Given the description of an element on the screen output the (x, y) to click on. 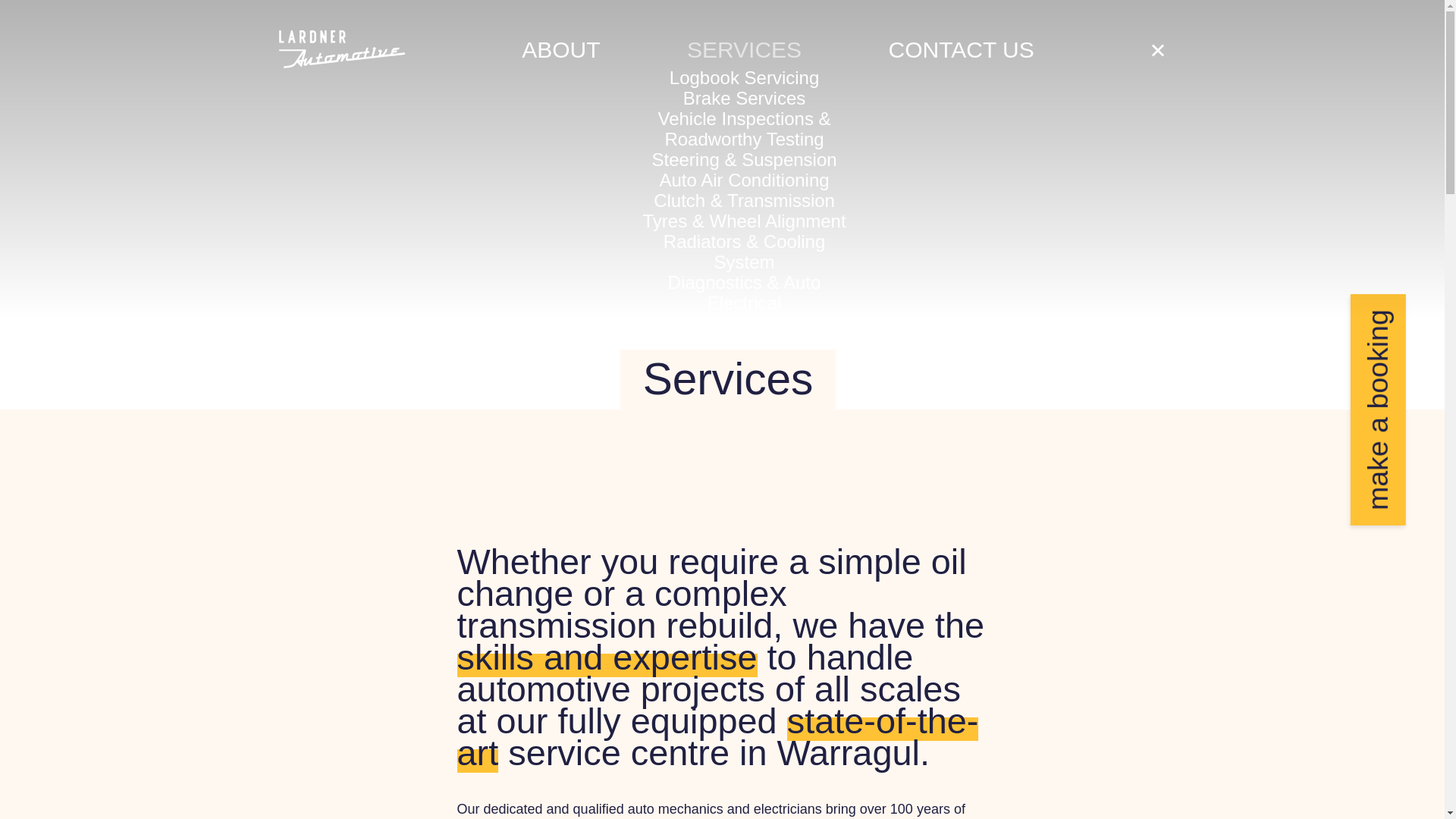
Steering & Suspension Element type: text (743, 158)
Brake Services Element type: text (744, 97)
Clutch & Transmission Element type: text (743, 199)
Vehicle Inspections & Roadworthy Testing Element type: text (743, 127)
CONTACT US Element type: text (961, 49)
Radiators & Cooling System Element type: text (744, 250)
Tyres & Wheel Alignment Element type: text (743, 220)
Auto Air Conditioning Element type: text (743, 179)
other services Element type: text (743, 322)
ABOUT Element type: text (560, 49)
Diagnostics & Auto Electrical Element type: text (744, 291)
Logbook Servicing Element type: text (744, 76)
SERVICES Element type: text (743, 49)
